Given the description of an element on the screen output the (x, y) to click on. 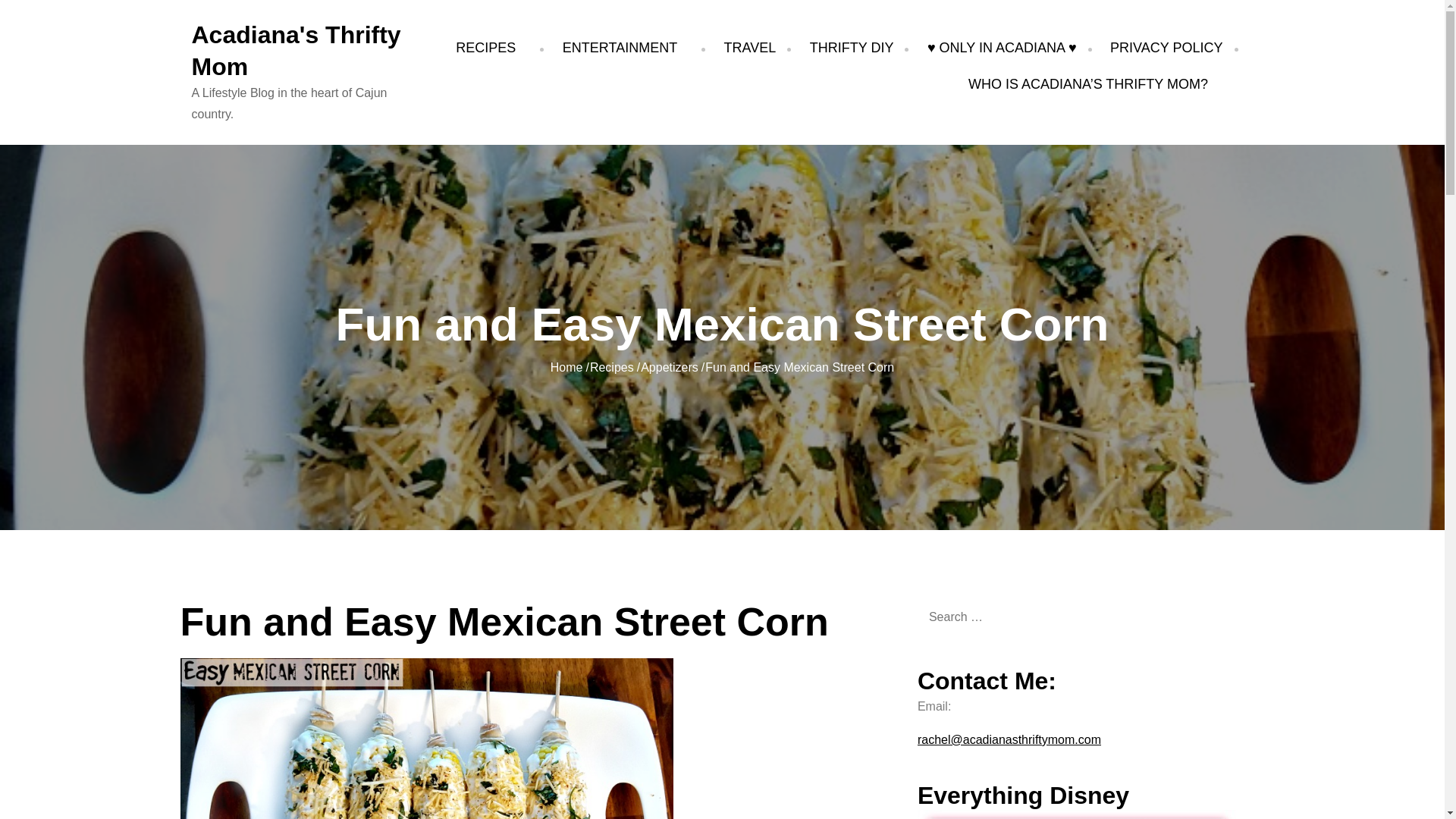
THRIFTY DIY (851, 47)
Recipes (611, 367)
Home (566, 367)
Acadiana's Thrifty Mom (295, 50)
PRIVACY POLICY (1166, 47)
TRAVEL (749, 47)
RECIPES (491, 47)
ENTERTAINMENT (626, 47)
